Given the description of an element on the screen output the (x, y) to click on. 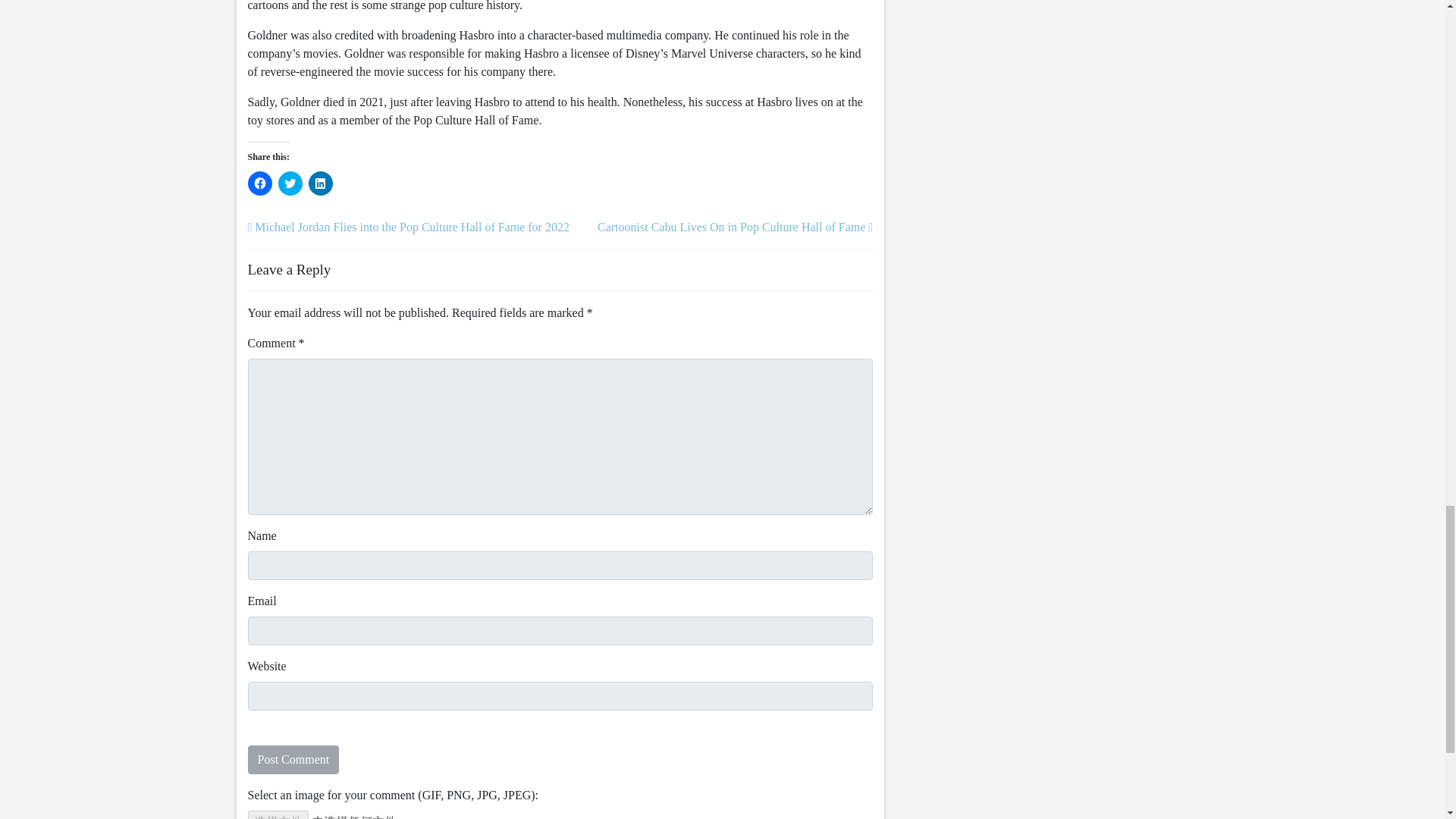
Post Comment (293, 759)
Click to share on LinkedIn (319, 183)
Post Comment (293, 759)
Click to share on Twitter (289, 183)
Cartoonist Cabu Lives On in Pop Culture Hall of Fame  (734, 226)
Click to share on Facebook (258, 183)
